Given the description of an element on the screen output the (x, y) to click on. 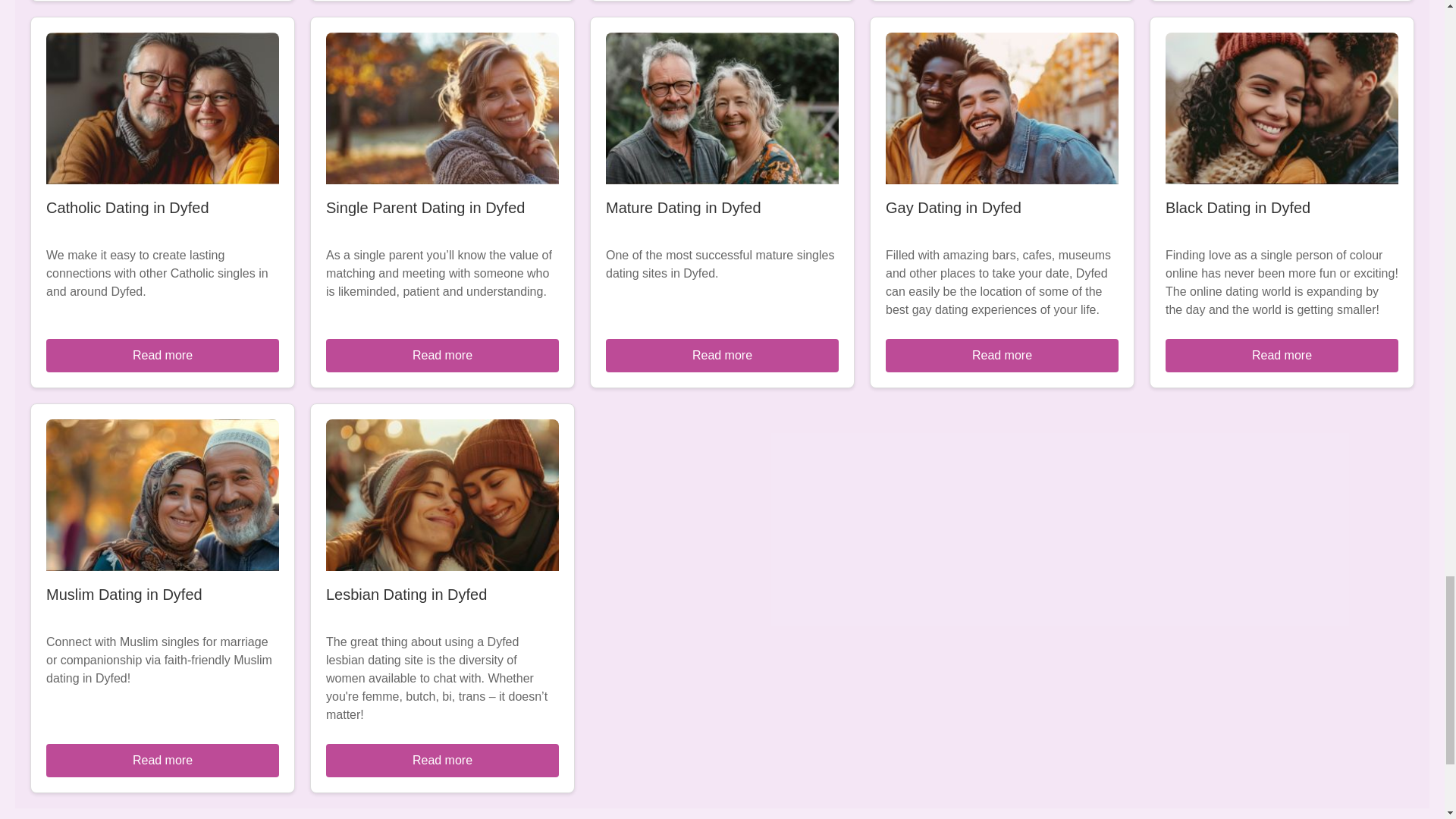
Read more (442, 760)
Read more (1281, 355)
Read more (162, 355)
Read more (721, 355)
Read more (162, 760)
Read more (1001, 355)
Read more (442, 355)
